Given the description of an element on the screen output the (x, y) to click on. 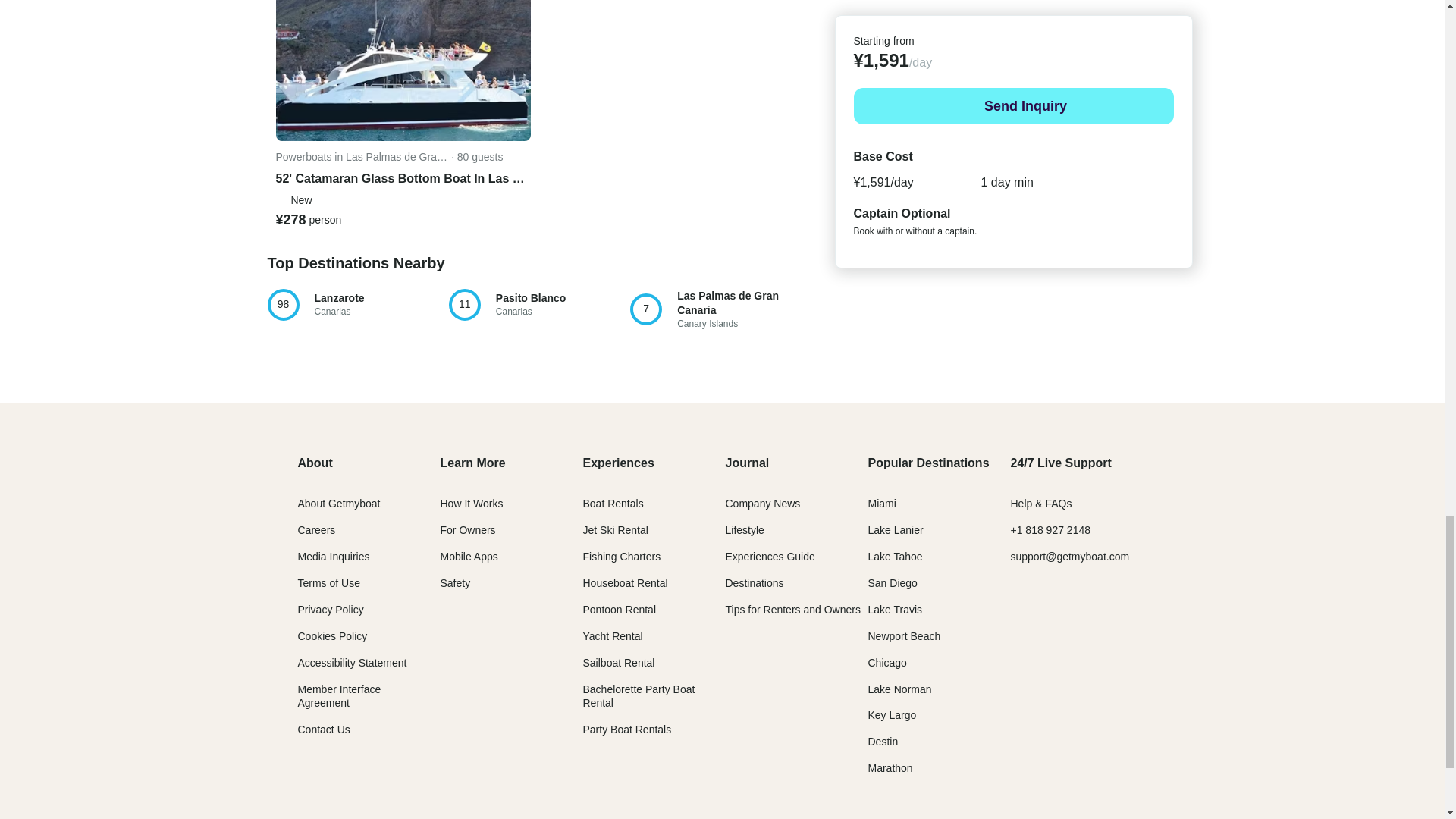
Boat Rentals (612, 503)
Terms of Use (328, 582)
Experiences (617, 462)
For Owners (719, 309)
Accessibility Statement (538, 305)
Mobile Apps (467, 530)
Safety (351, 662)
